Given the description of an element on the screen output the (x, y) to click on. 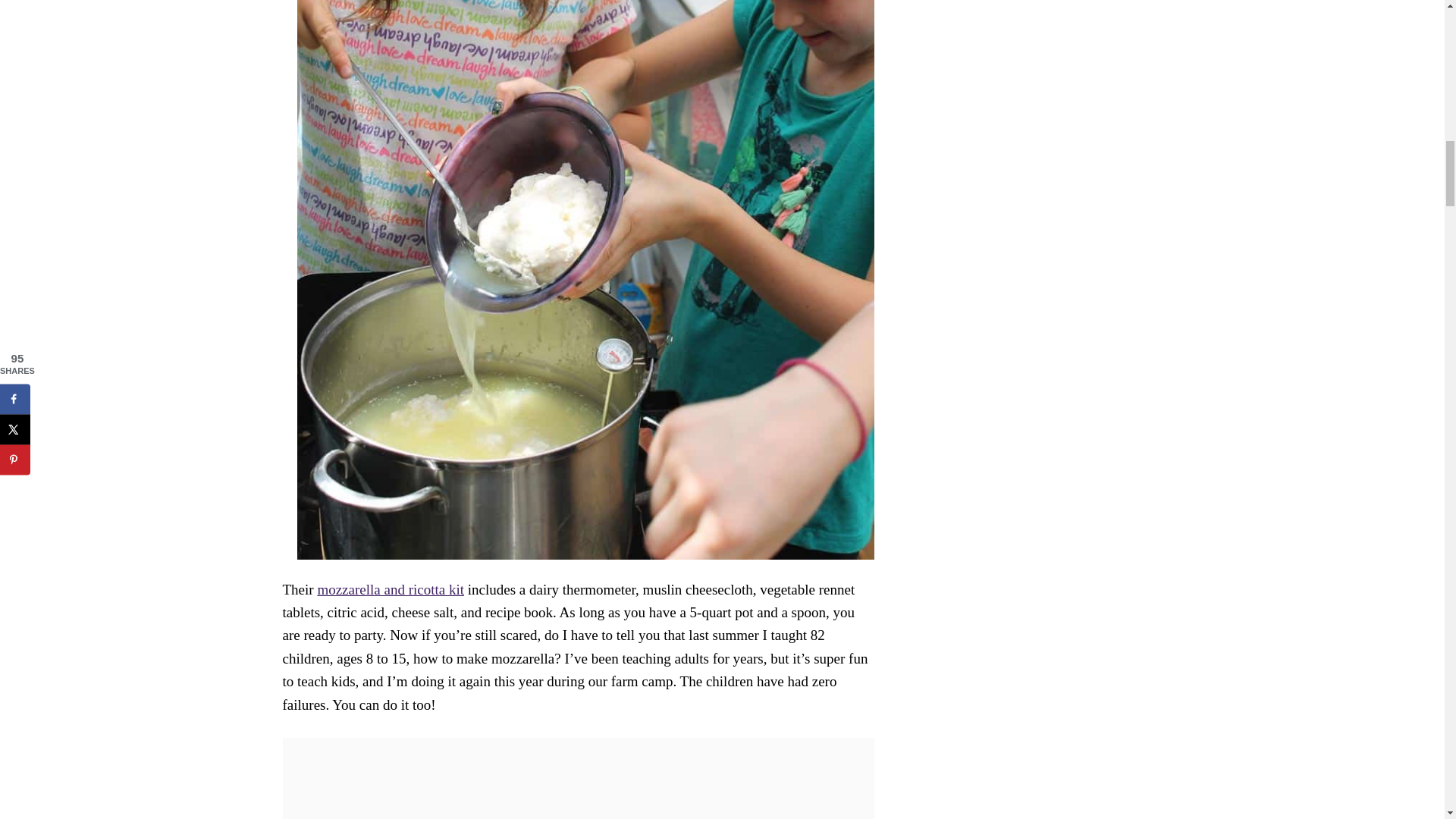
mozzarella and ricotta kit (390, 589)
